Given the description of an element on the screen output the (x, y) to click on. 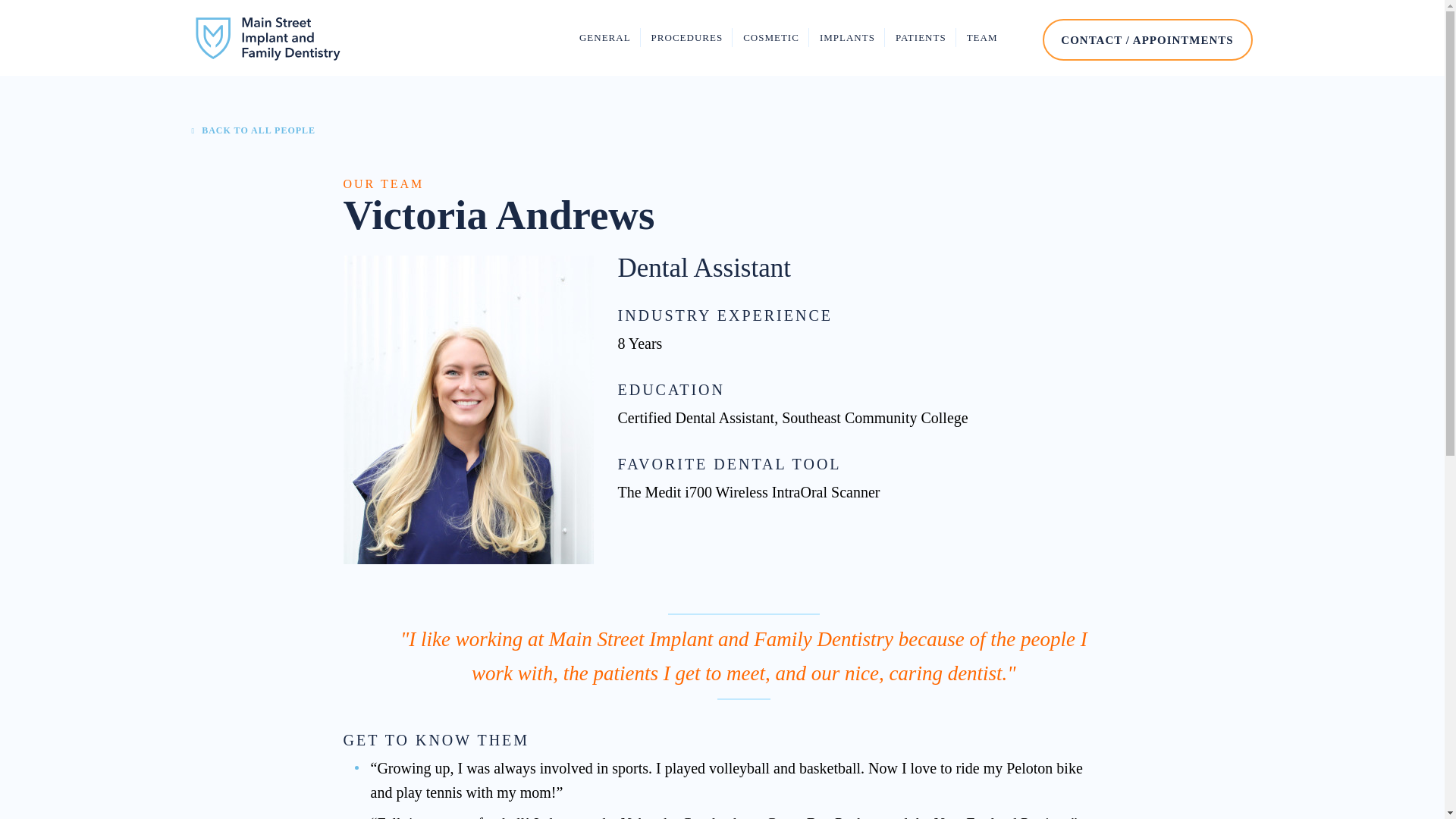
PROCEDURES (687, 38)
